Given the description of an element on the screen output the (x, y) to click on. 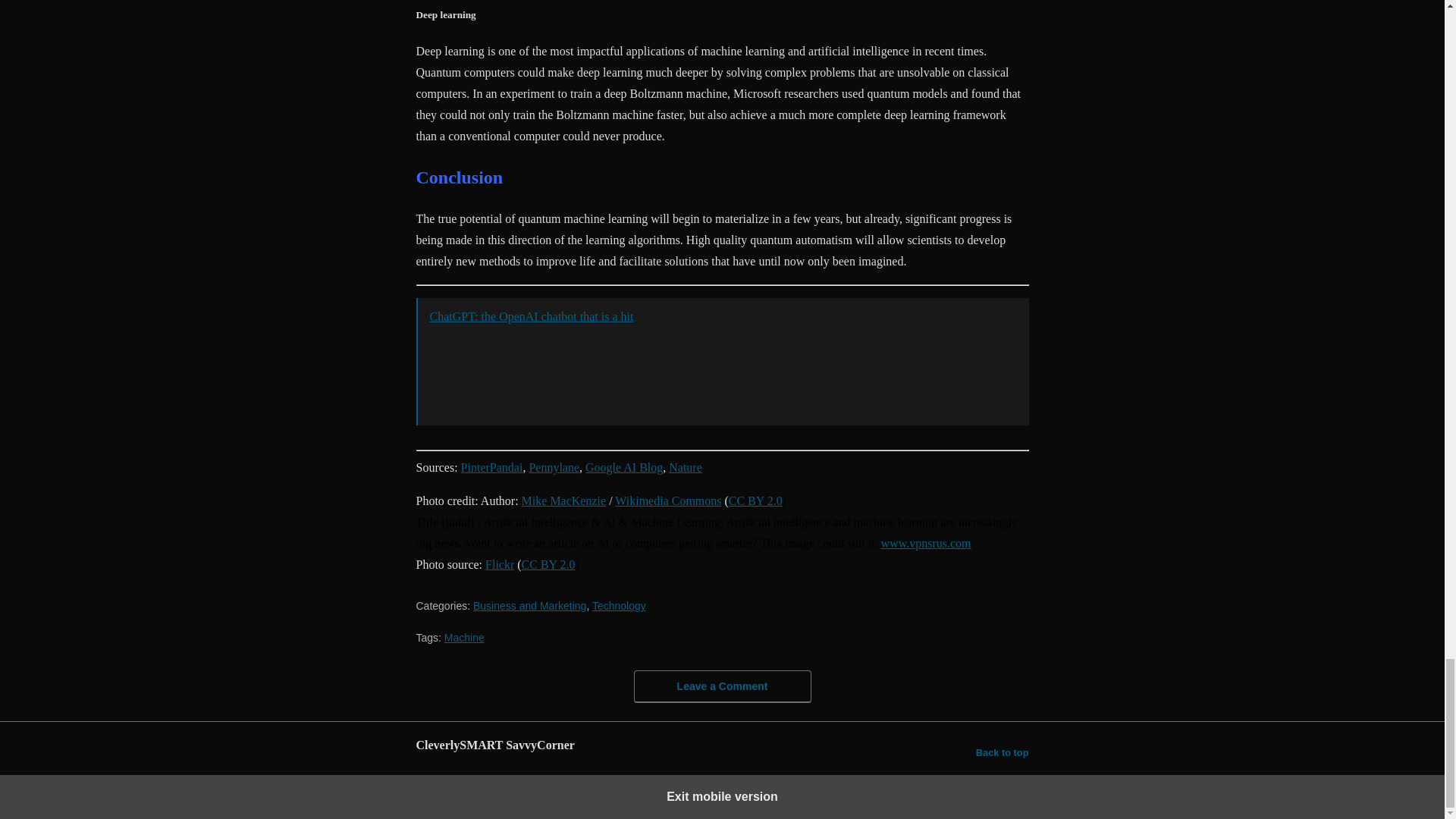
Business and Marketing (529, 605)
Mike MacKenzie (564, 500)
Flickr (498, 563)
Wikimedia Commons (667, 500)
CC BY 2.0 (756, 500)
Technology (619, 605)
Machine (464, 637)
PinterPandai (491, 467)
www.vpnsrus.com (925, 543)
Back to top (1002, 752)
ChatGPT: the OpenAI chatbot that is a hit (531, 316)
CC BY 2.0 (548, 563)
Google AI Blog (623, 467)
Pennylane (553, 467)
Leave a Comment (721, 686)
